Given the description of an element on the screen output the (x, y) to click on. 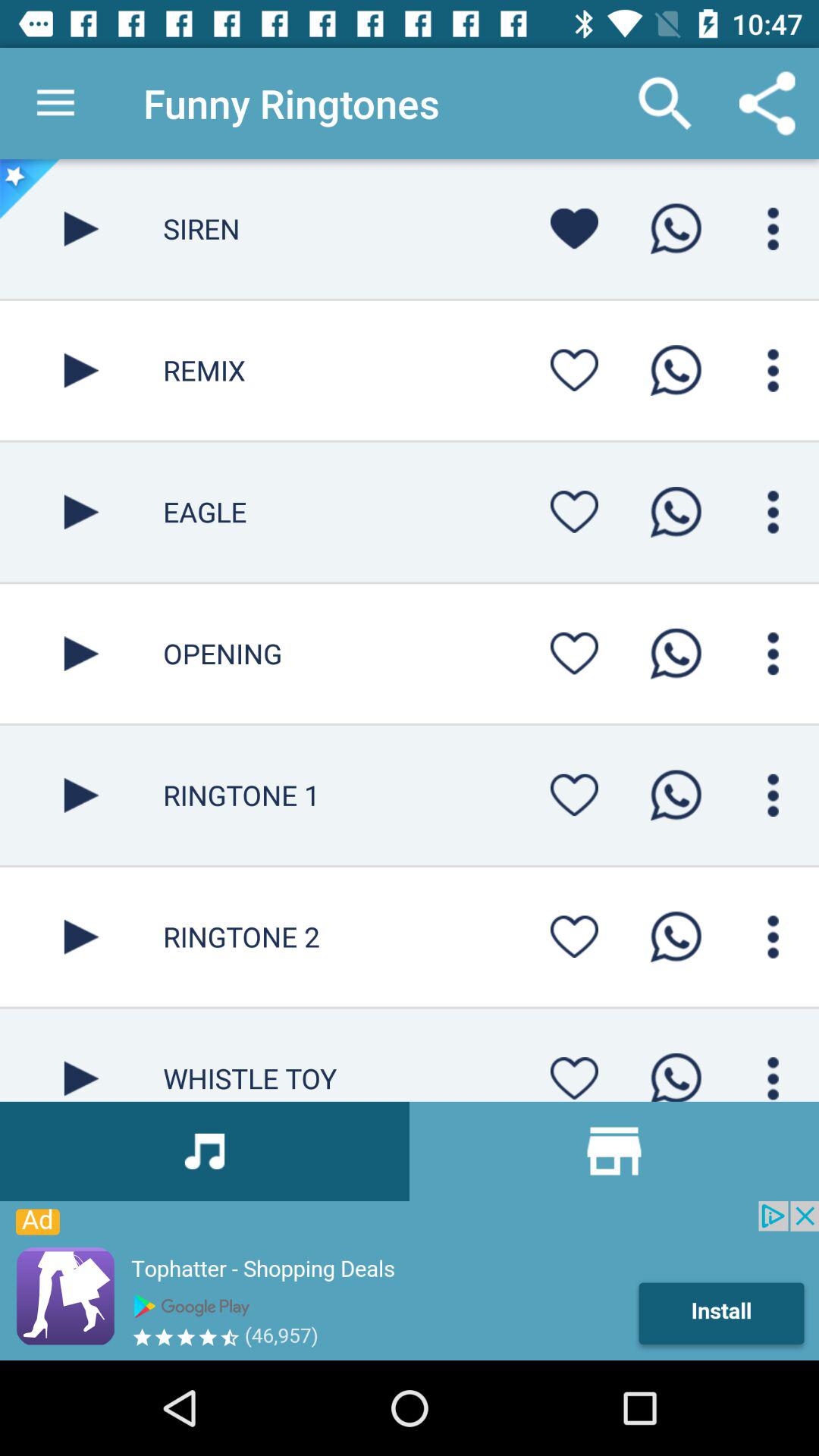
search (773, 794)
